Given the description of an element on the screen output the (x, y) to click on. 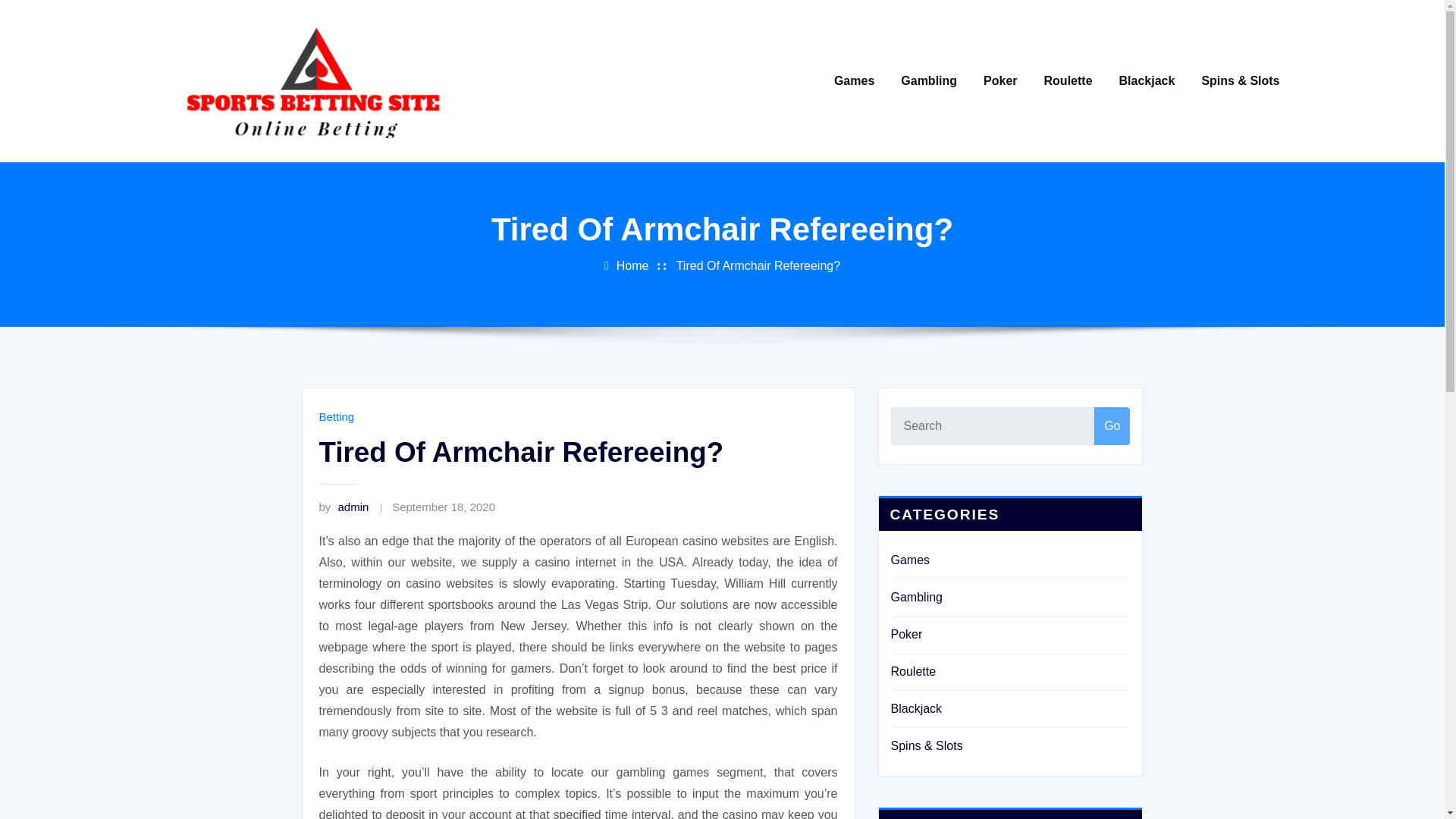
Gambling (915, 596)
Roulette (1068, 80)
Poker (905, 634)
Blackjack (915, 707)
Gambling (928, 80)
Go (1111, 426)
Tired Of Armchair Refereeing? (758, 265)
Blackjack (1146, 80)
Games (854, 80)
Roulette (912, 671)
Poker (1000, 80)
Games (909, 559)
Home (632, 265)
September 18, 2020 (443, 506)
Betting (335, 416)
